Given the description of an element on the screen output the (x, y) to click on. 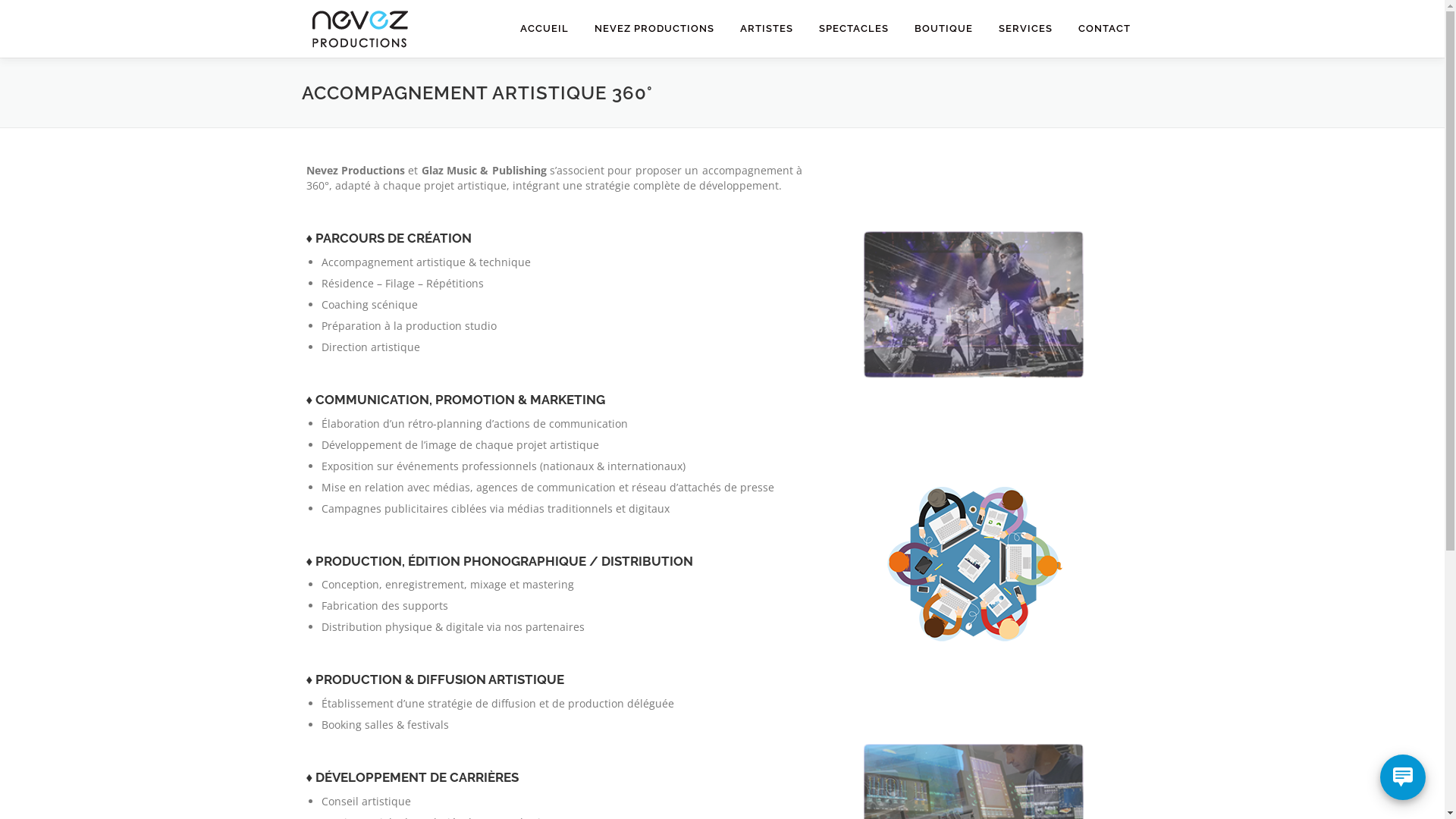
NEVEZ PRODUCTIONS Element type: text (653, 28)
SERVICES Element type: text (1025, 28)
ACCUEIL Element type: text (543, 28)
BOUTIQUE Element type: text (942, 28)
ARTISTES Element type: text (765, 28)
CONTACT Element type: text (1103, 28)
SPECTACLES Element type: text (852, 28)
